Given the description of an element on the screen output the (x, y) to click on. 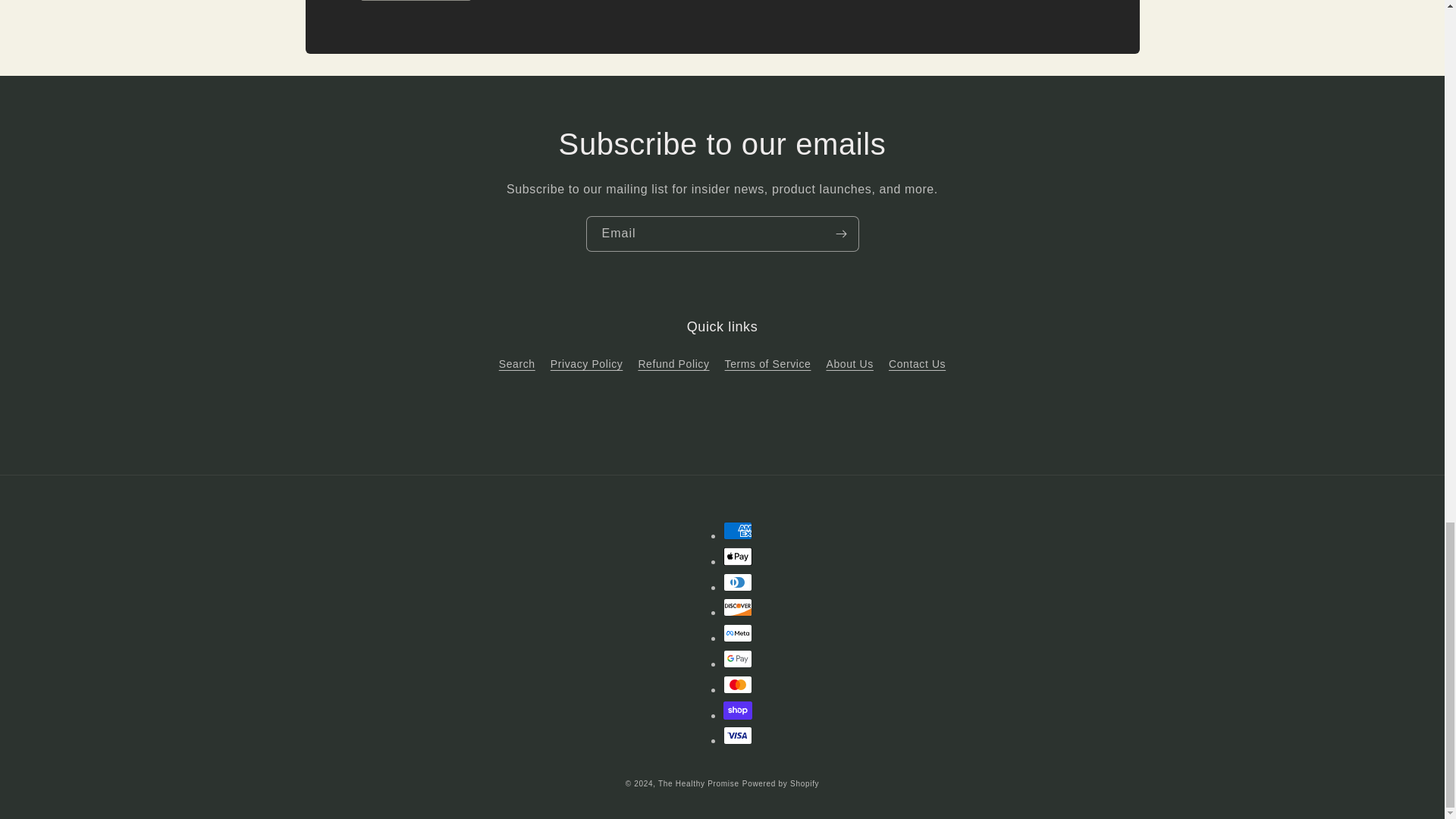
Apple Pay (737, 556)
Discover (737, 607)
American Express (737, 530)
Diners Club (737, 582)
